Given the description of an element on the screen output the (x, y) to click on. 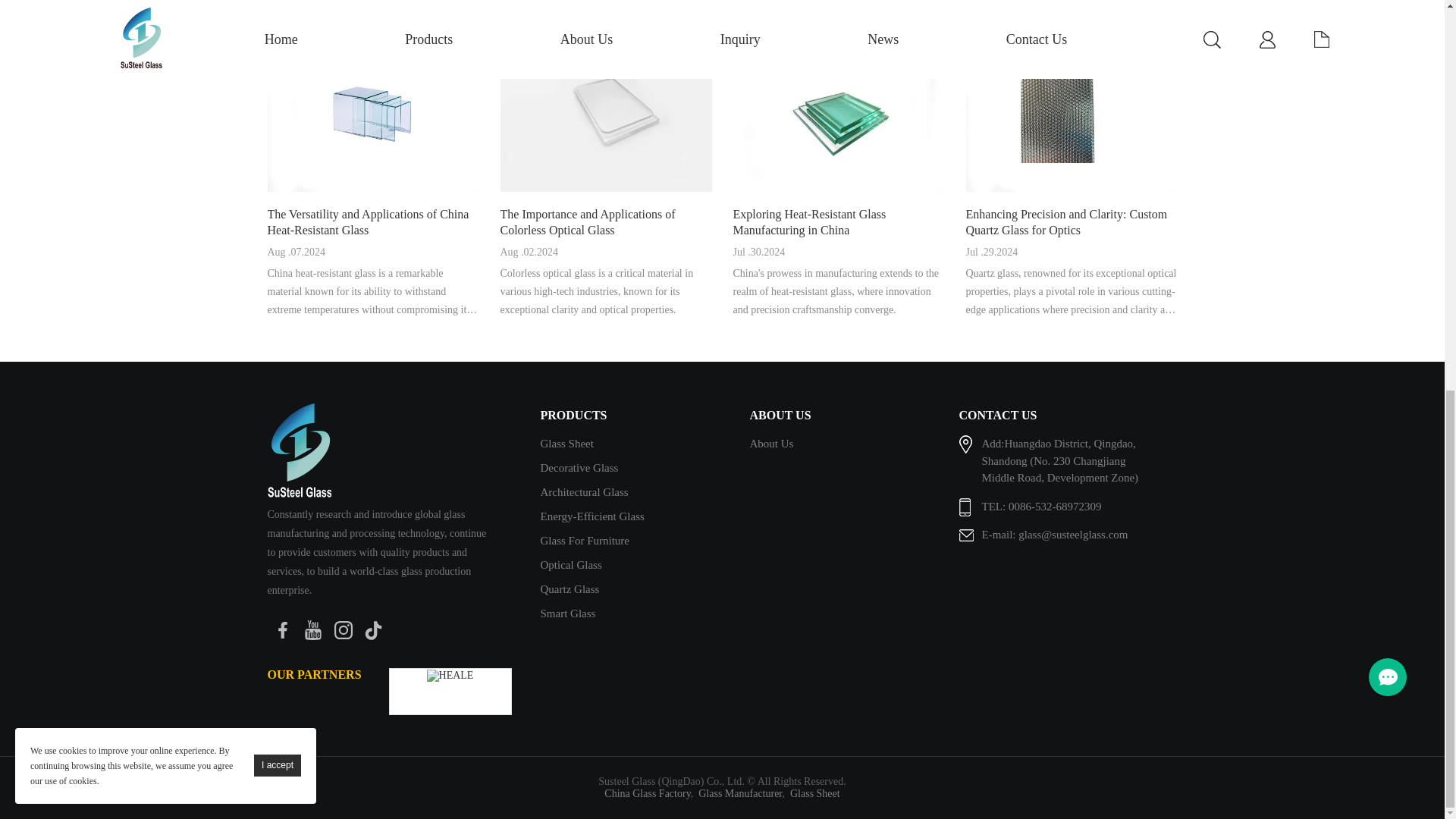
I accept (277, 20)
